Given the description of an element on the screen output the (x, y) to click on. 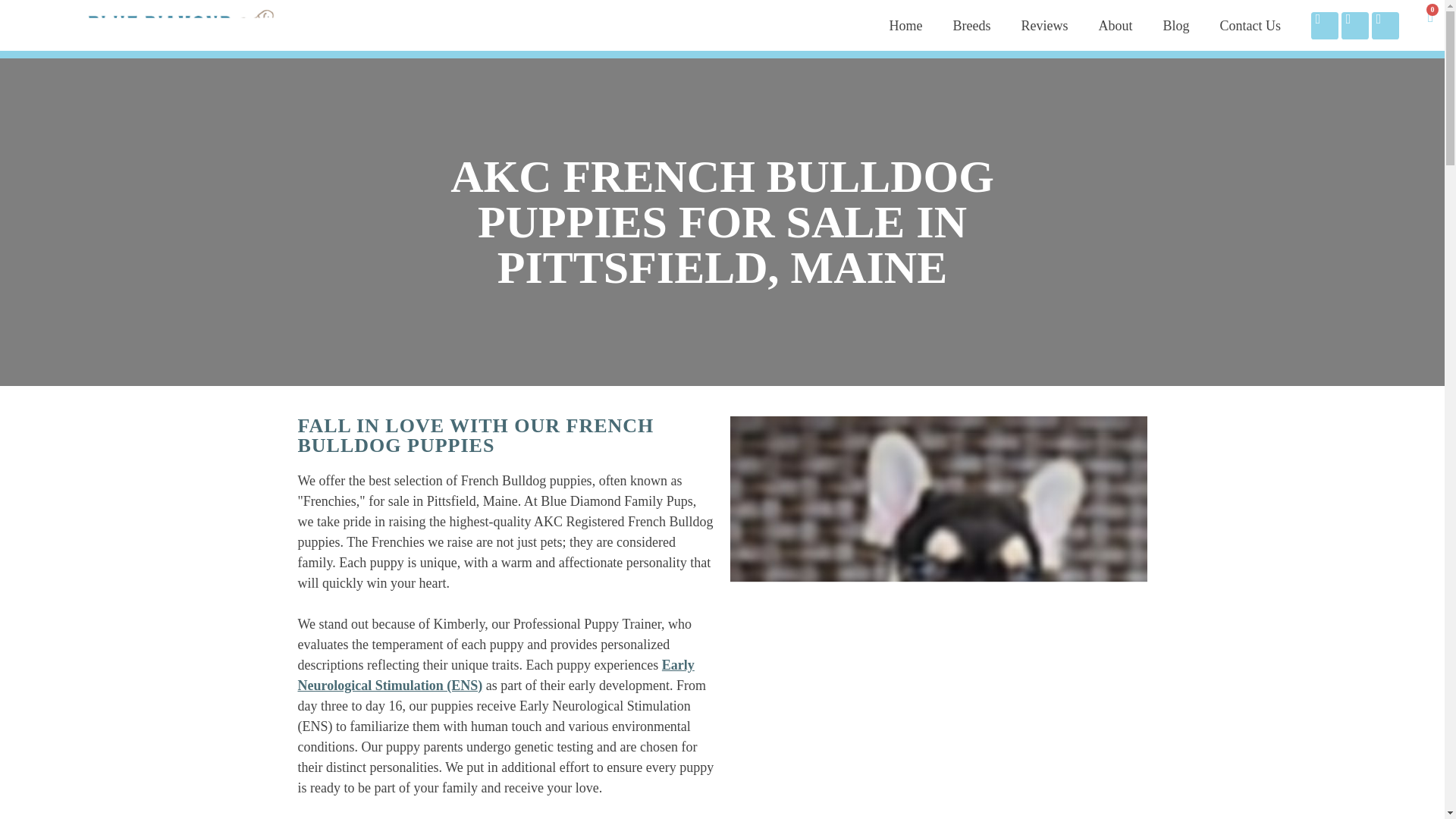
Blog (1175, 25)
Reviews (1044, 25)
Home (905, 25)
About (1115, 25)
Breeds (971, 25)
Contact Us (1249, 25)
Blue-Diamond-Family-Pups-Logo - Blue Diamond Family Pups (181, 25)
